Given the description of an element on the screen output the (x, y) to click on. 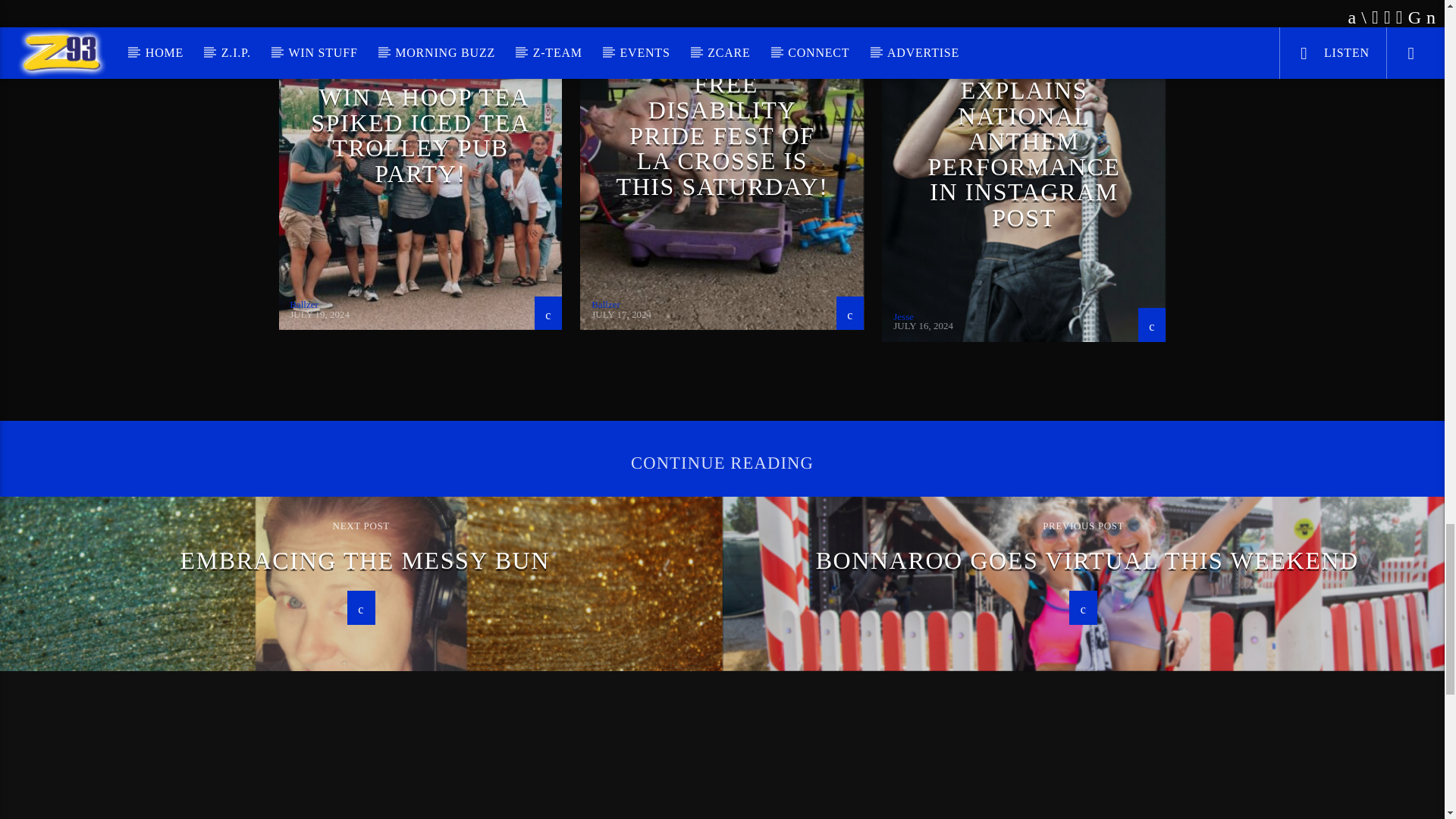
Posts by Ballzer (303, 304)
Posts by Ballzer (605, 304)
Posts by Jesse (903, 316)
